Given the description of an element on the screen output the (x, y) to click on. 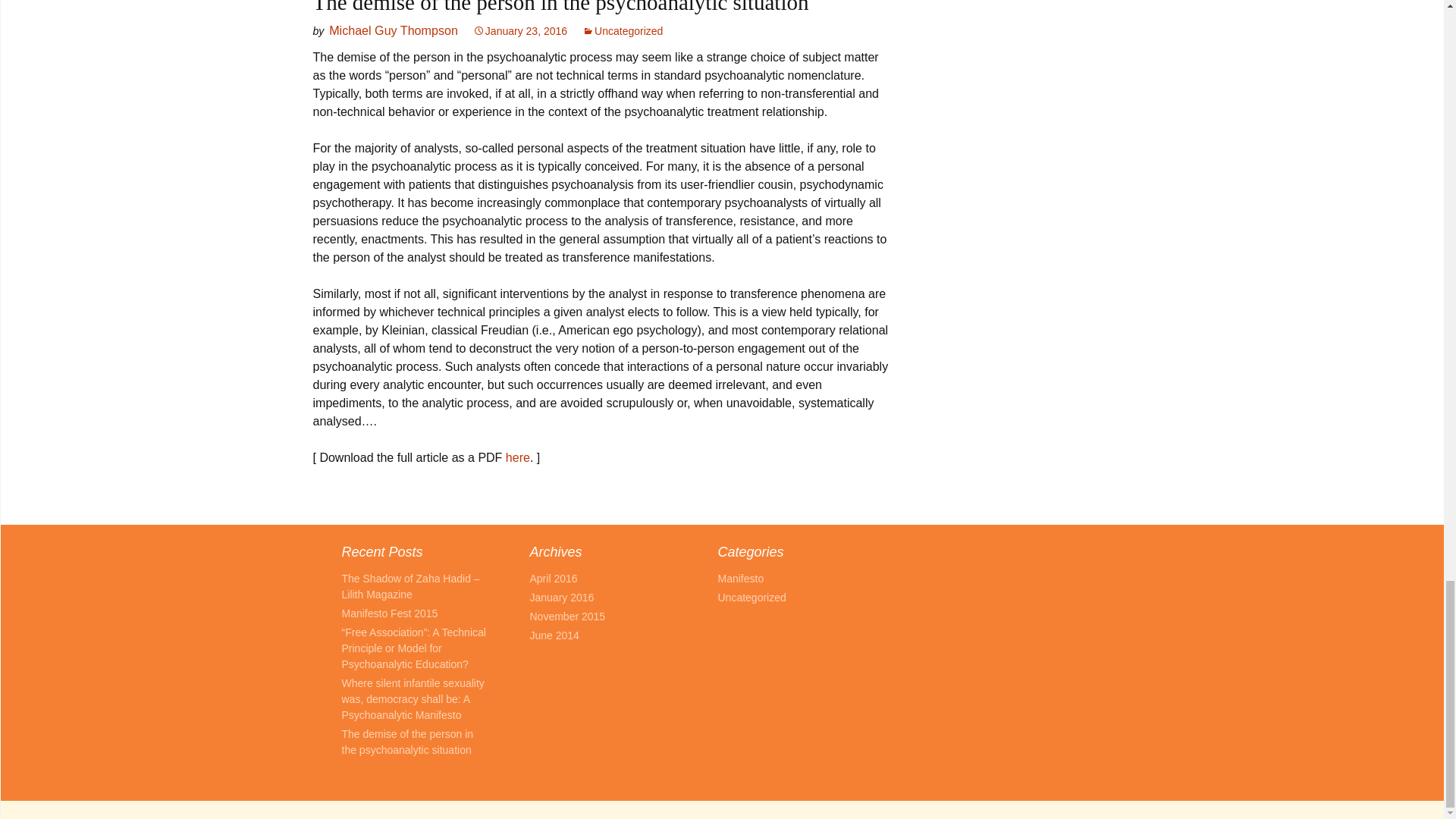
January 23, 2016 (520, 30)
June 2014 (553, 635)
January 2016 (561, 597)
Manifesto Fest 2015 (389, 613)
The demise of the person in the psychoanalytic situation (560, 7)
The demise of the person in the psychoanalytic situation (406, 741)
Michael Guy Thompson (393, 29)
here (517, 457)
Uncategorized (622, 30)
November 2015 (567, 616)
View all posts by Michael Guy Thompson (393, 29)
April 2016 (552, 578)
